Given the description of an element on the screen output the (x, y) to click on. 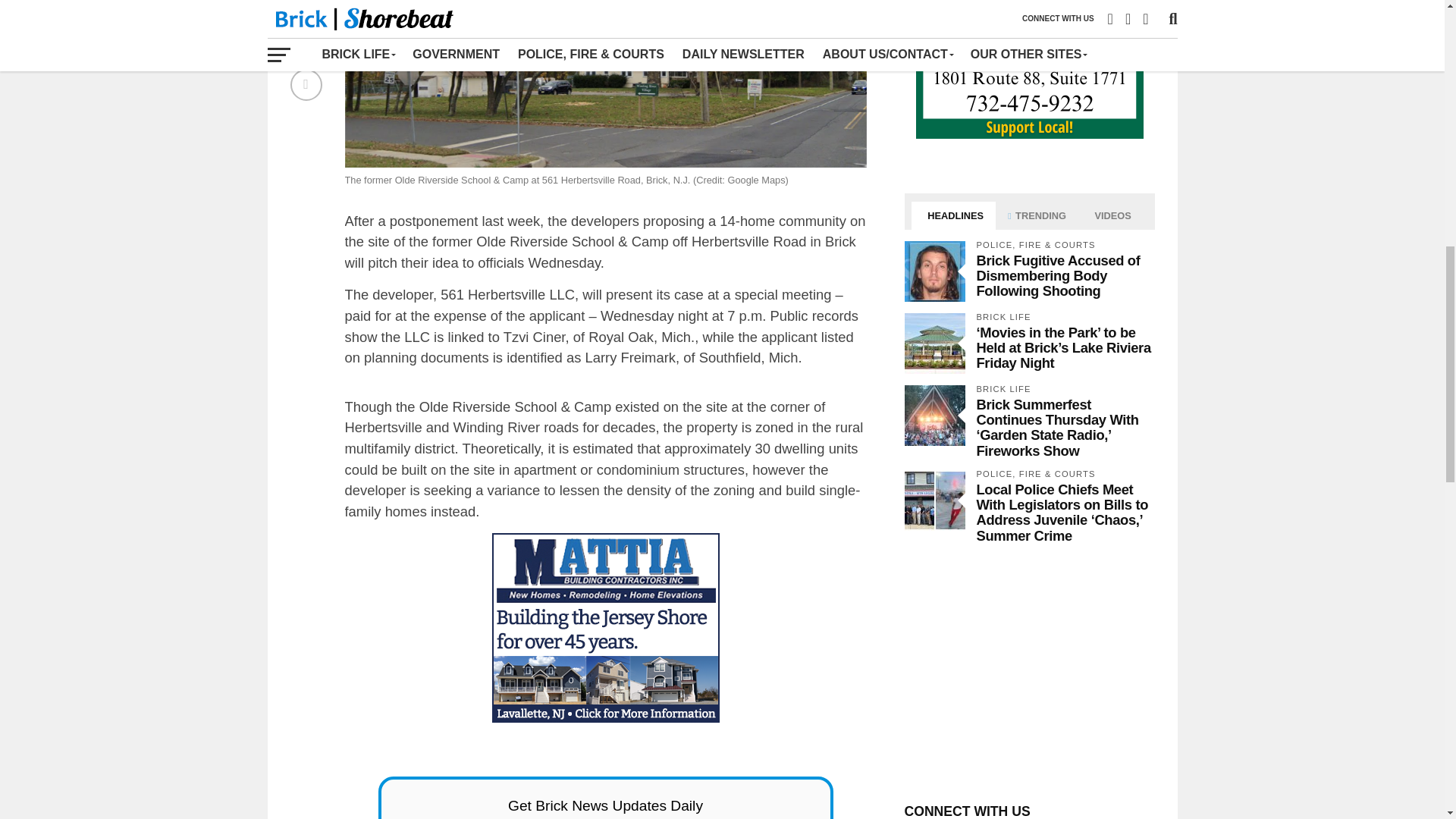
Mattia Builders (605, 627)
